Given the description of an element on the screen output the (x, y) to click on. 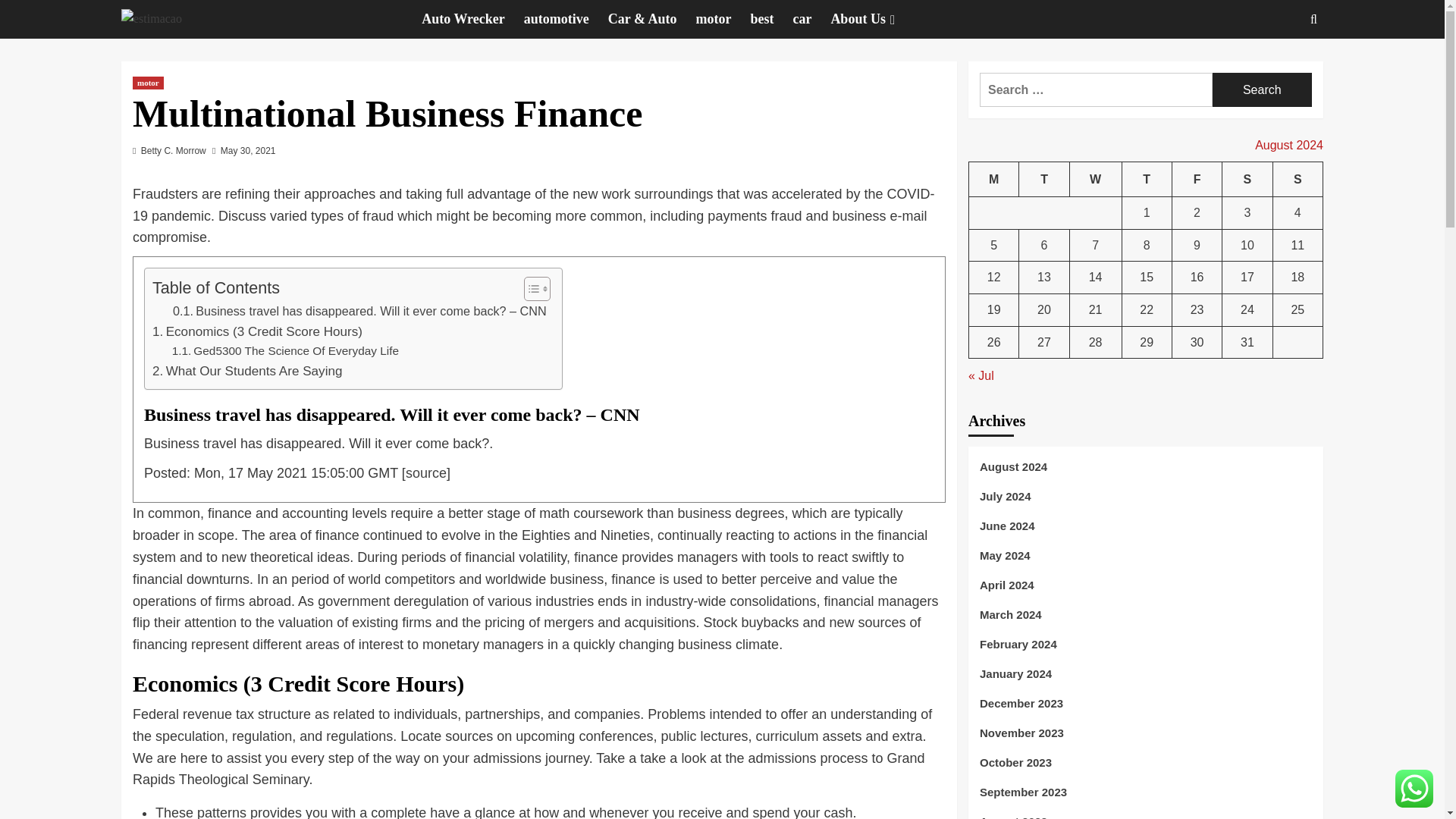
What Our Students Are Saying (247, 371)
About Us (873, 19)
Ged5300 The Science Of Everyday Life (284, 351)
Search (1261, 89)
Tuesday (1043, 179)
Search (1261, 89)
May 30, 2021 (248, 150)
Monday (994, 179)
Friday (1196, 179)
Thursday (1146, 179)
